Given the description of an element on the screen output the (x, y) to click on. 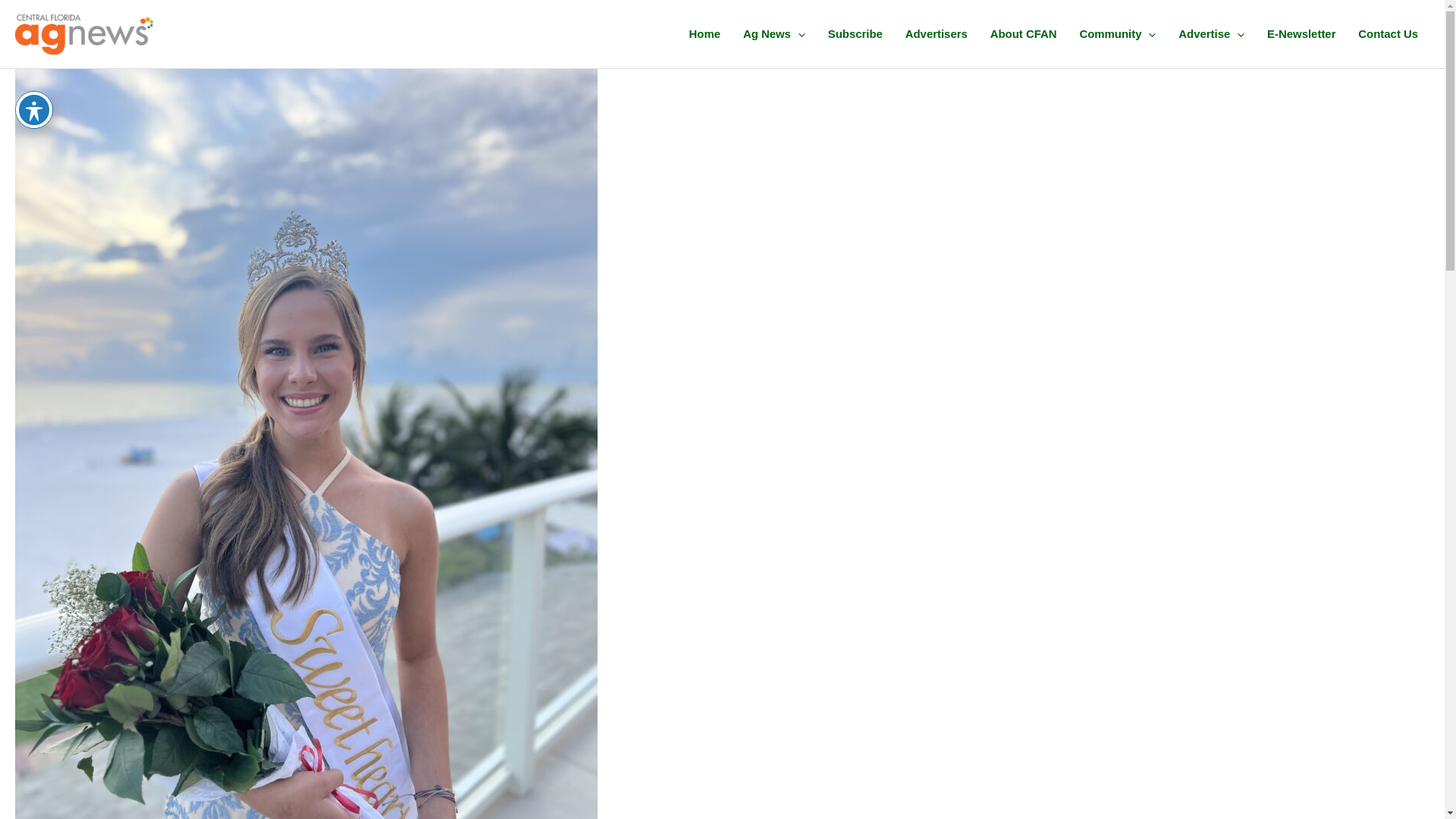
E-Newsletter (1300, 33)
Advertisers (935, 33)
Community (1117, 33)
Home (705, 33)
Subscribe (854, 33)
Advertise (1211, 33)
Contact Us (1387, 33)
Ag News (774, 33)
About CFAN (1023, 33)
